Given the description of an element on the screen output the (x, y) to click on. 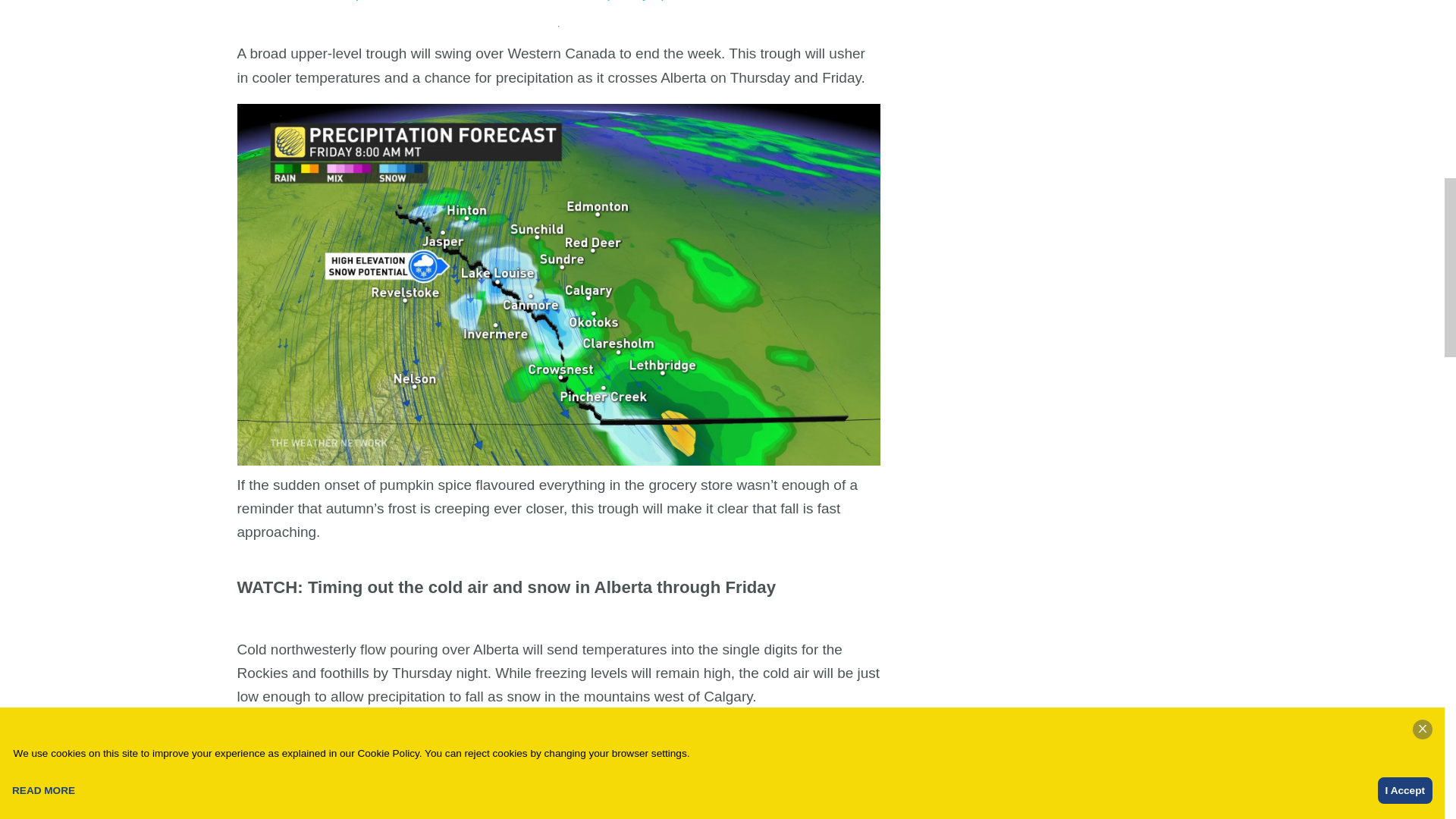
Fall is a busy time for squirrels. Here's what they're up to (1090, 791)
